Given the description of an element on the screen output the (x, y) to click on. 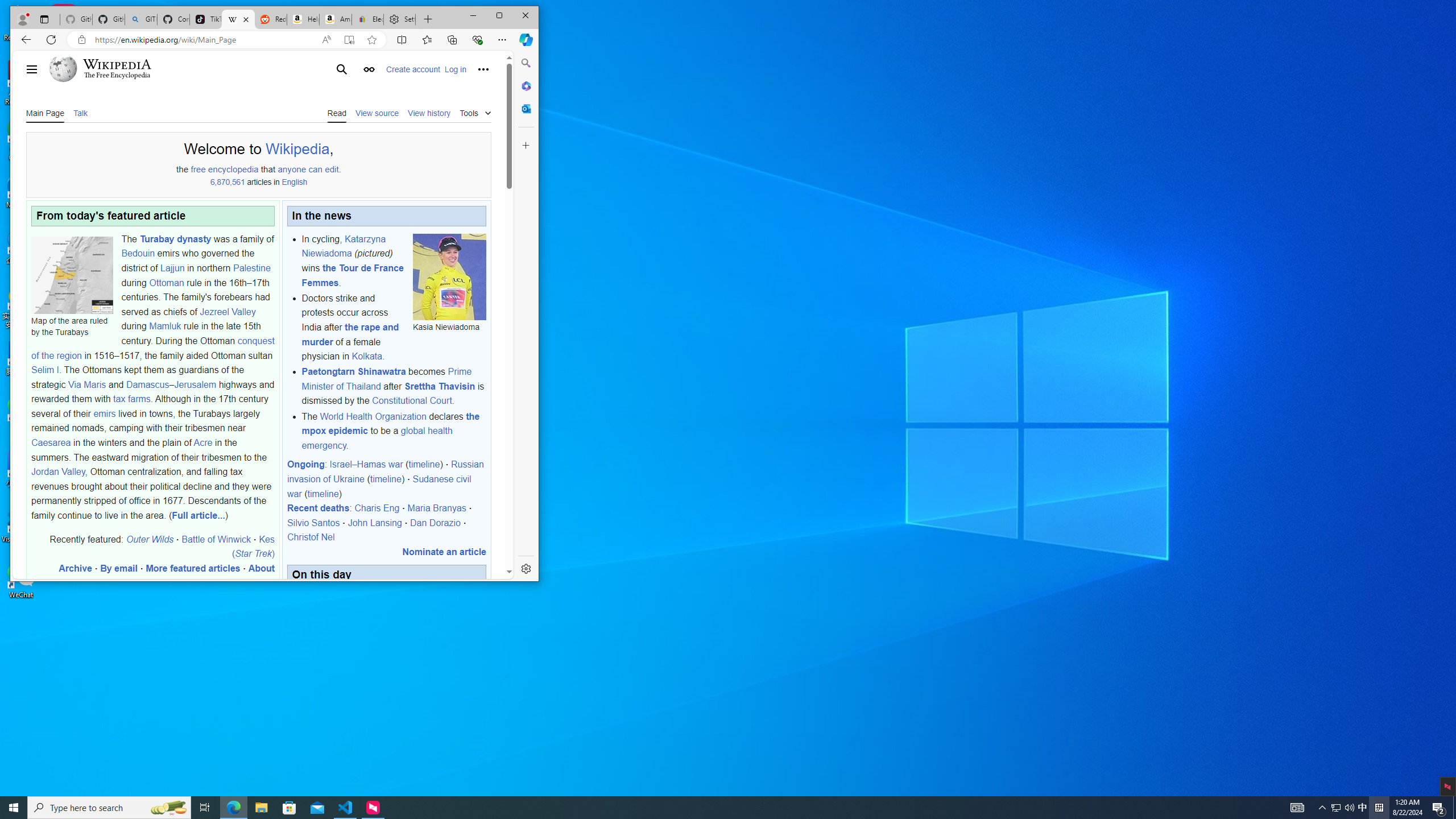
Ottoman (166, 282)
Create account (412, 68)
Search highlights icon opens search home window (167, 807)
World Health Organization (373, 416)
View history (429, 111)
Sudanese civil war (timeline) (378, 486)
View source (376, 111)
Amazon.com: Deals (335, 19)
Main Page (45, 112)
Sudanese civil war (378, 486)
Paetongtarn Shinawatra (353, 371)
